Given the description of an element on the screen output the (x, y) to click on. 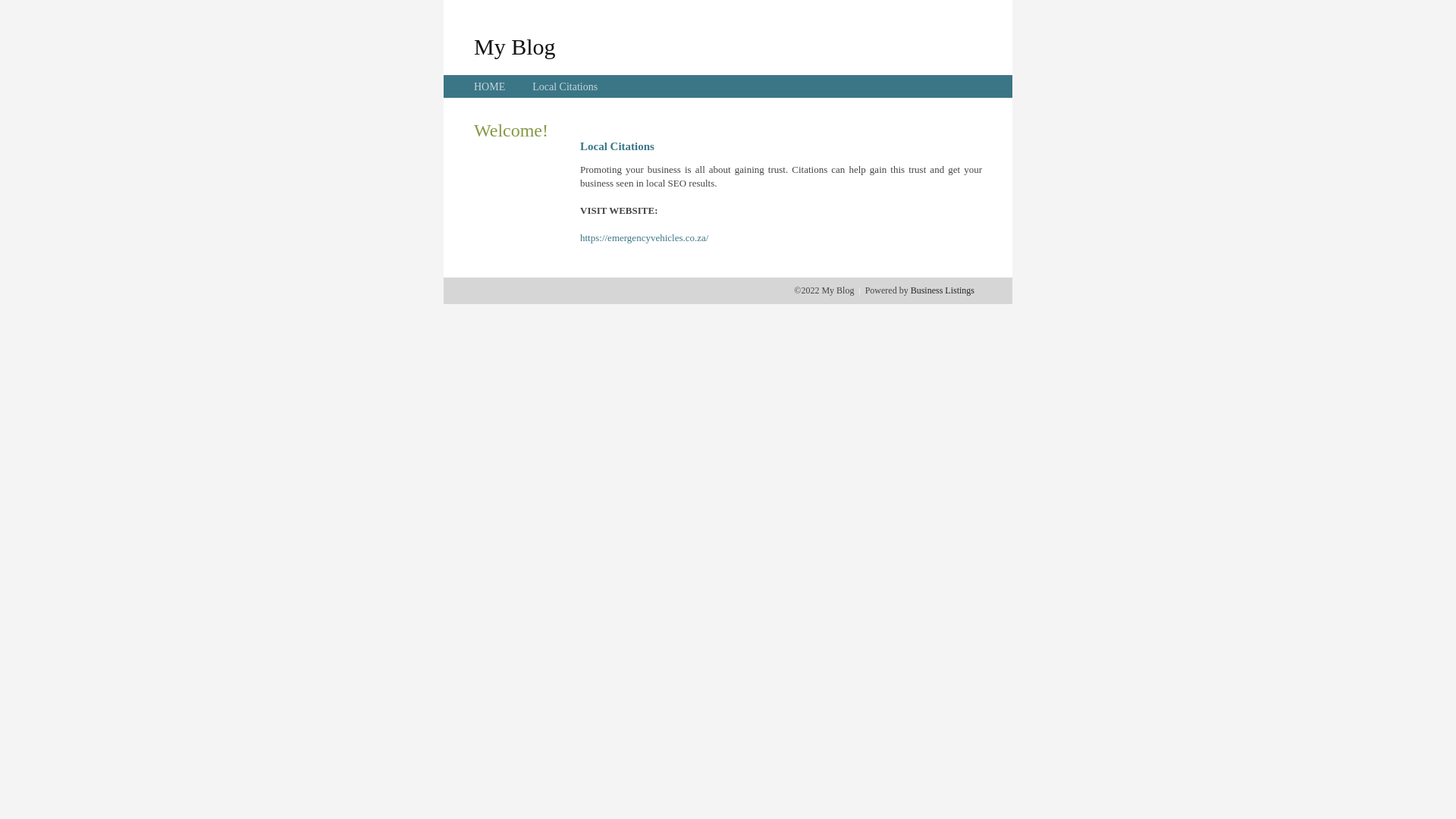
Business Listings Element type: text (942, 290)
My Blog Element type: text (514, 46)
HOME Element type: text (489, 86)
https://emergencyvehicles.co.za/ Element type: text (644, 237)
Local Citations Element type: text (564, 86)
